Given the description of an element on the screen output the (x, y) to click on. 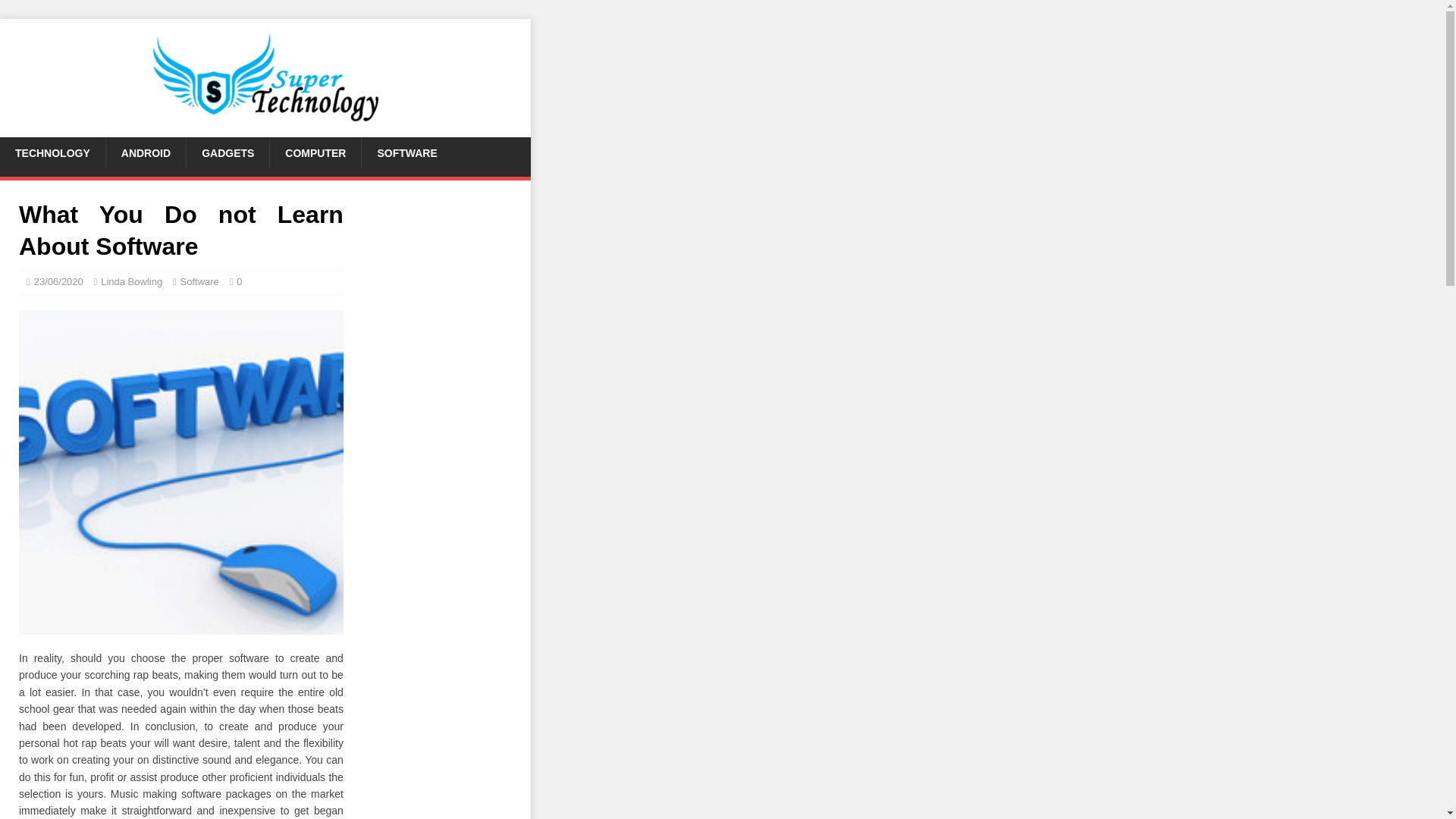
TECHNOLOGY (52, 152)
SOFTWARE (406, 152)
Software (199, 281)
GADGETS (227, 152)
Linda Bowling (130, 281)
COMPUTER (315, 152)
ANDROID (145, 152)
